Given the description of an element on the screen output the (x, y) to click on. 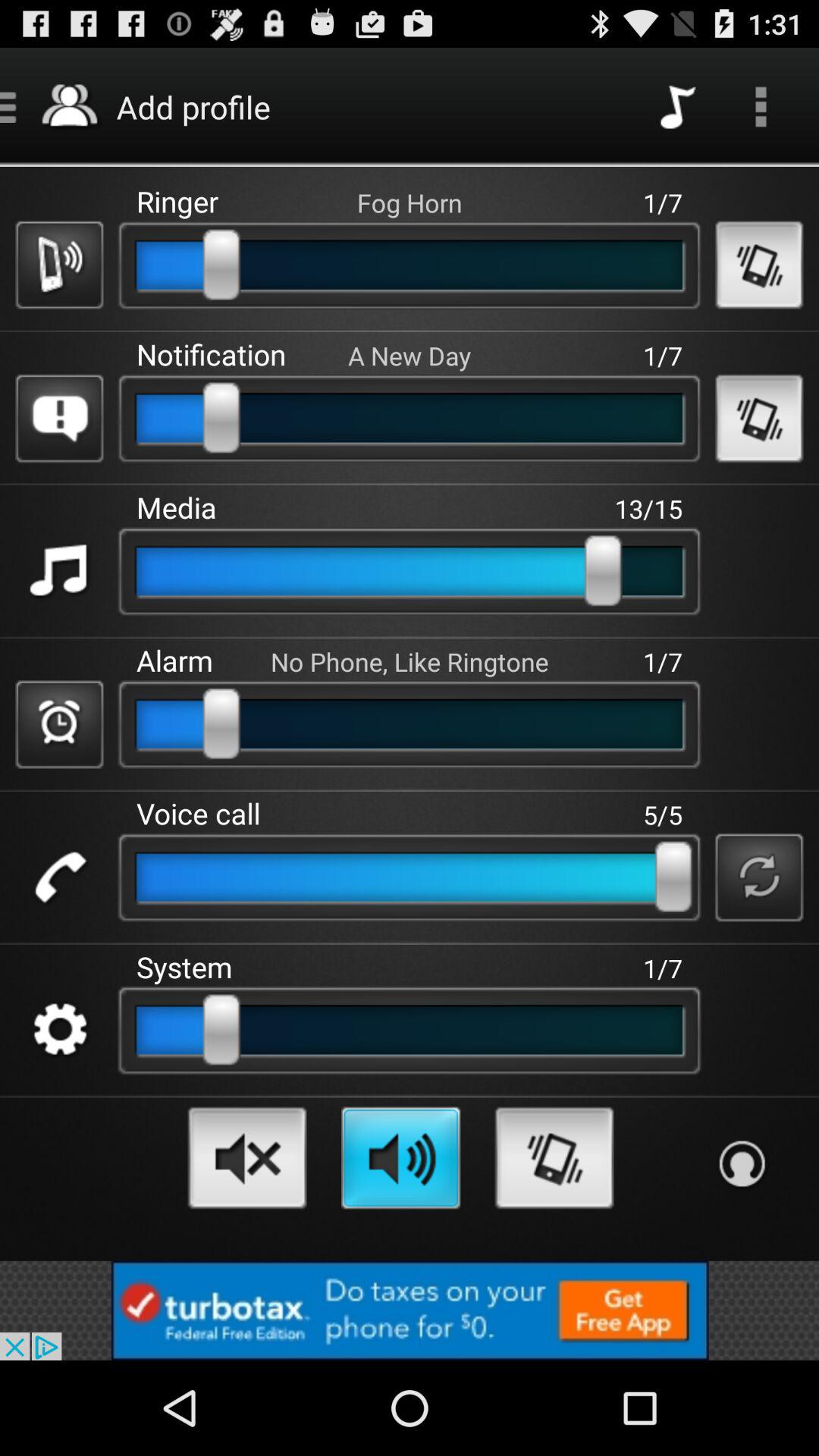
select the notification icon (59, 418)
select alarm icon at the left side of the page (59, 723)
click on third icon which is at bottom (554, 1157)
select the telephone symbol which is on the left of ringer (59, 265)
select mute button which is on the bottom of page (247, 1157)
select the voice call icon which is below the alarm (59, 876)
select volume button which is above do taxes on the page (401, 1157)
select the symbol which is to the right of slide bar in the voice call (758, 876)
select the second vibrate button which is below more option on page (758, 418)
